Given the description of an element on the screen output the (x, y) to click on. 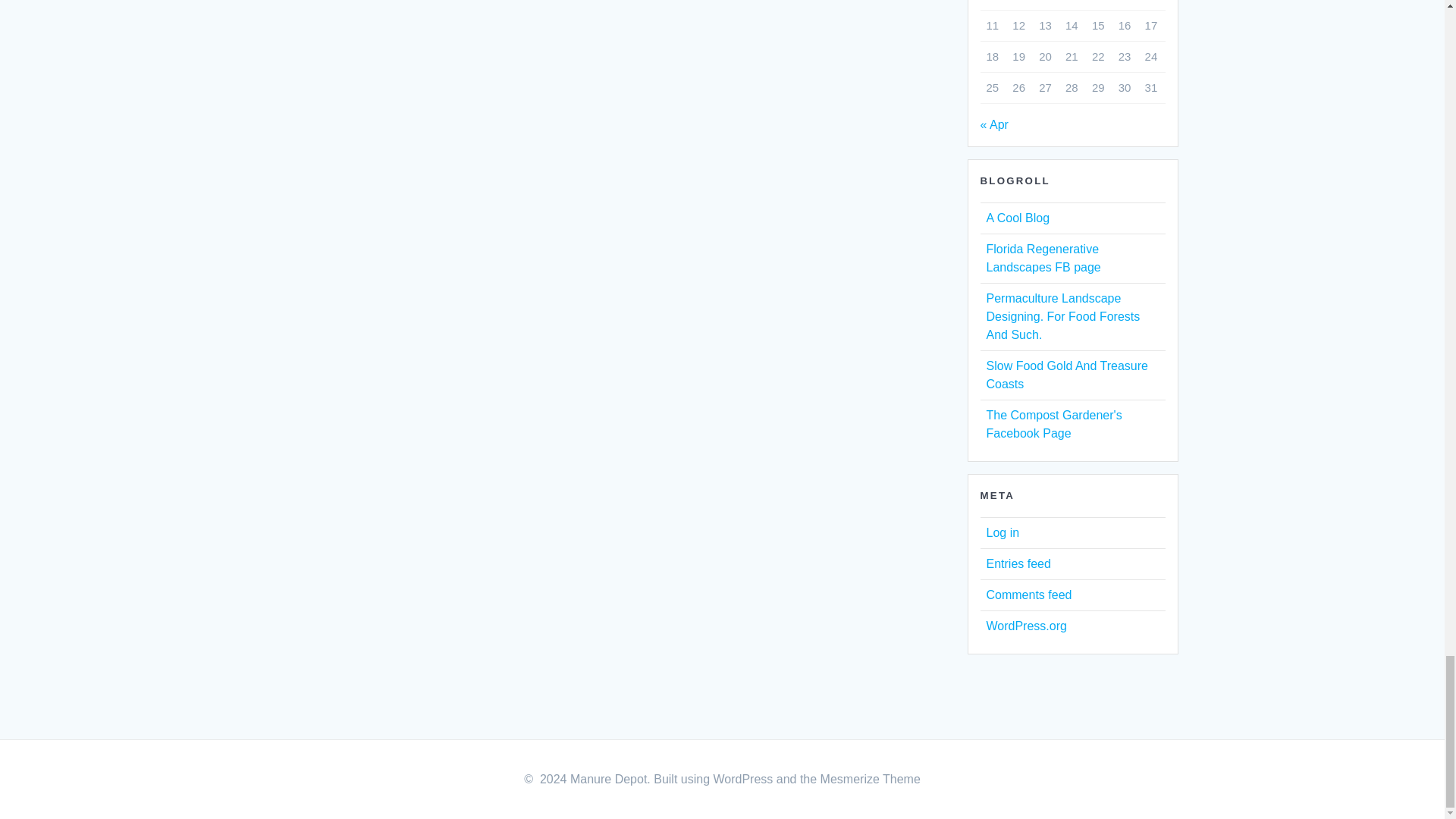
The Compost Gardener (1053, 423)
The Permaculture Landscaping Blog Site for Lucie and Adina (1062, 316)
Slow Food GTC (1066, 374)
Florida Regenerative Landscapes Facebook page (1042, 257)
